Given the description of an element on the screen output the (x, y) to click on. 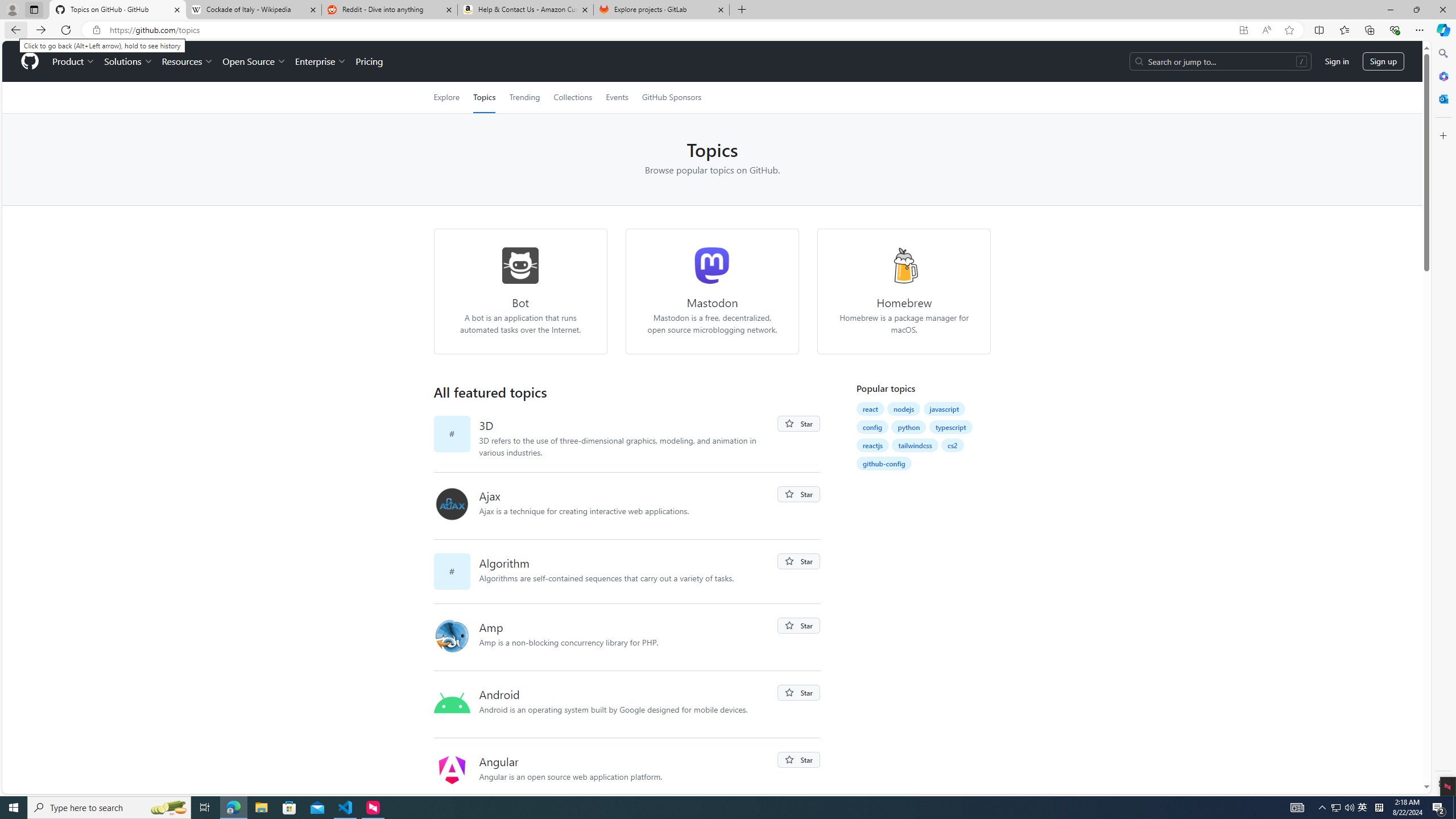
Help & Contact Us - Amazon Customer Service (525, 9)
ajax (456, 505)
Events (616, 97)
android (456, 703)
tailwindcss (915, 445)
cs2 (952, 445)
Pricing (368, 60)
typescript (950, 427)
Resources (187, 60)
